Given the description of an element on the screen output the (x, y) to click on. 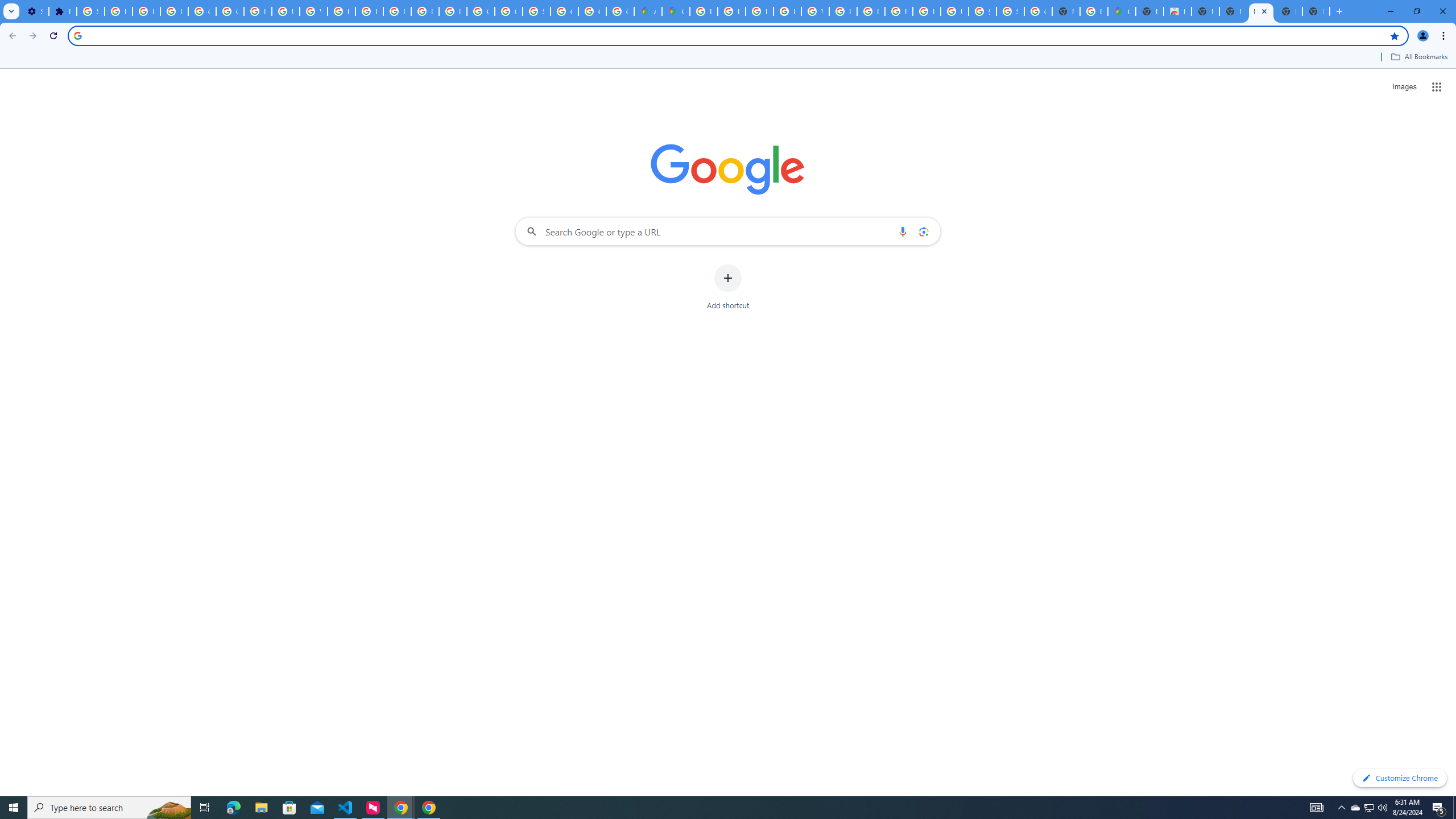
Privacy Help Center - Policies Help (759, 11)
Privacy Help Center - Policies Help (731, 11)
Delete photos & videos - Computer - Google Photos Help (118, 11)
Privacy Help Center - Policies Help (369, 11)
Sign in - Google Accounts (1010, 11)
Google Maps (675, 11)
Google Account Help (202, 11)
